Given the description of an element on the screen output the (x, y) to click on. 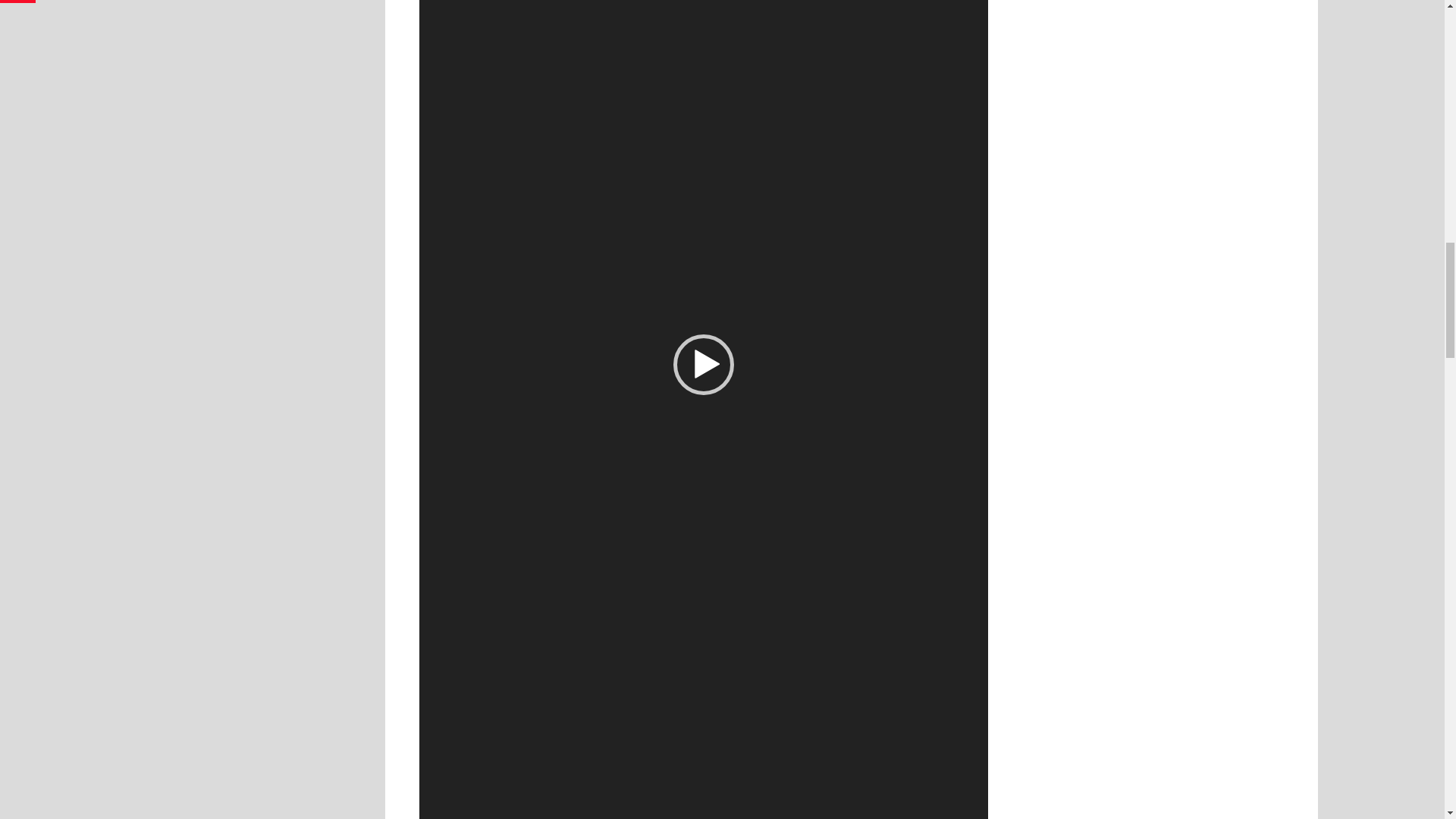
Advertisement (1152, 13)
